Given the description of an element on the screen output the (x, y) to click on. 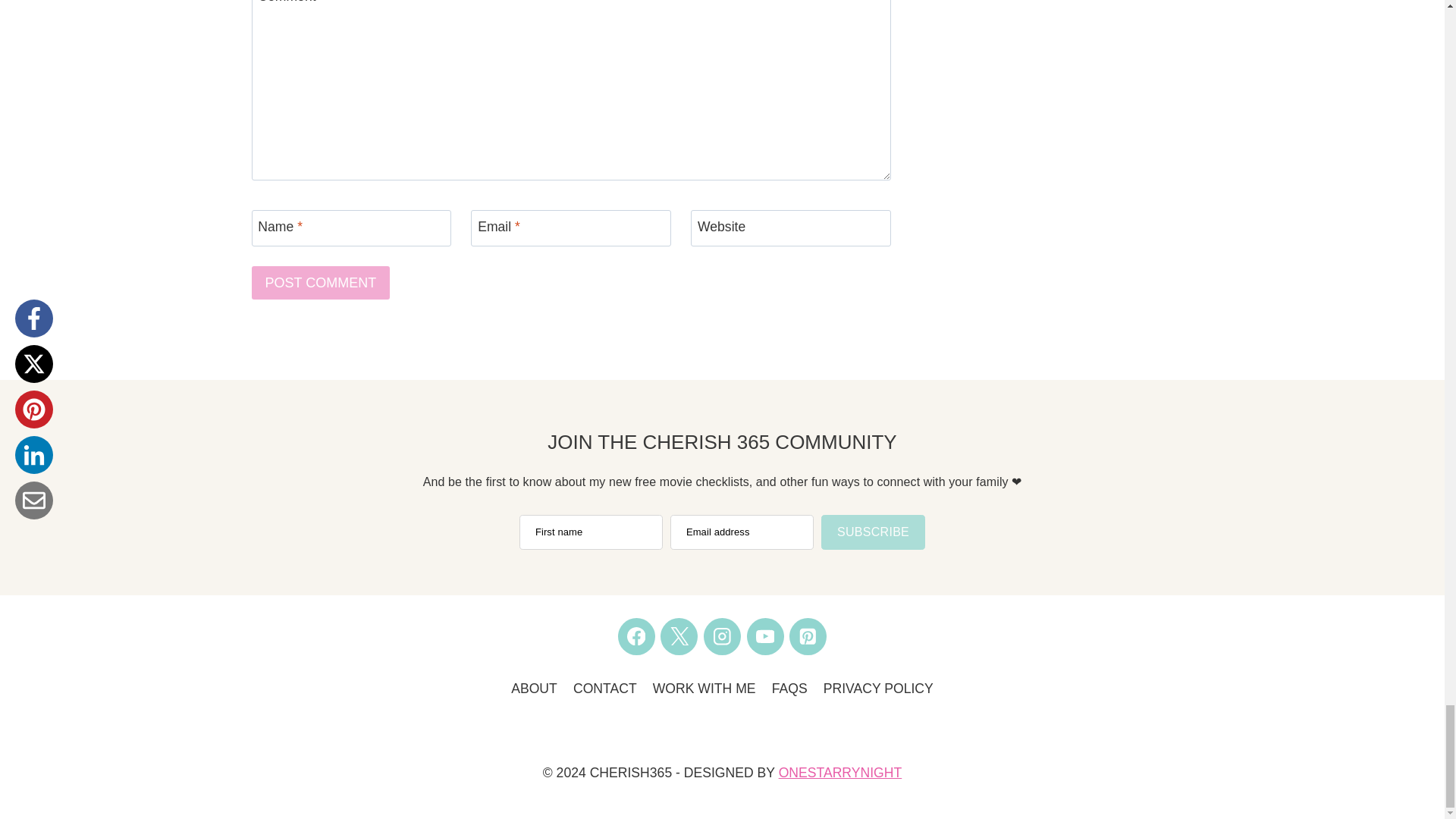
Post Comment (320, 282)
